Given the description of an element on the screen output the (x, y) to click on. 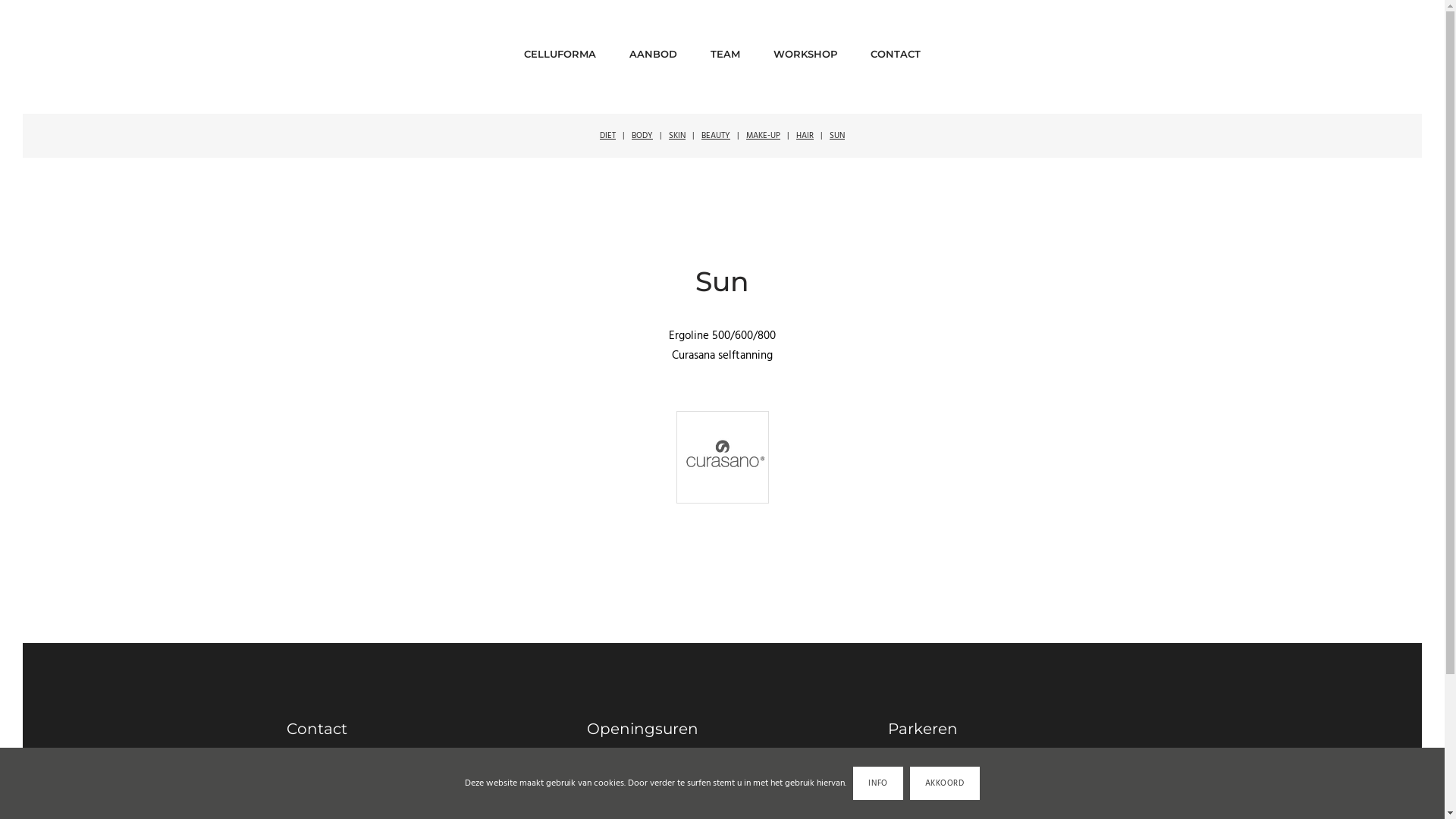
info@celluforma.be Element type: text (326, 774)
HAIR Element type: text (804, 135)
AKKOORD Element type: text (944, 783)
0479 45 80 72 Element type: text (330, 791)
TEAM Element type: text (725, 49)
BEAUTY Element type: text (715, 135)
INFO Element type: text (877, 783)
SKIN Element type: text (676, 135)
DIET Element type: text (607, 135)
CONTACT Element type: text (895, 49)
MAKE-UP Element type: text (763, 135)
WORKSHOP Element type: text (805, 49)
BODY Element type: text (641, 135)
CELLUFORMA Element type: text (560, 49)
AANBOD Element type: text (653, 49)
SUN Element type: text (836, 135)
